Given the description of an element on the screen output the (x, y) to click on. 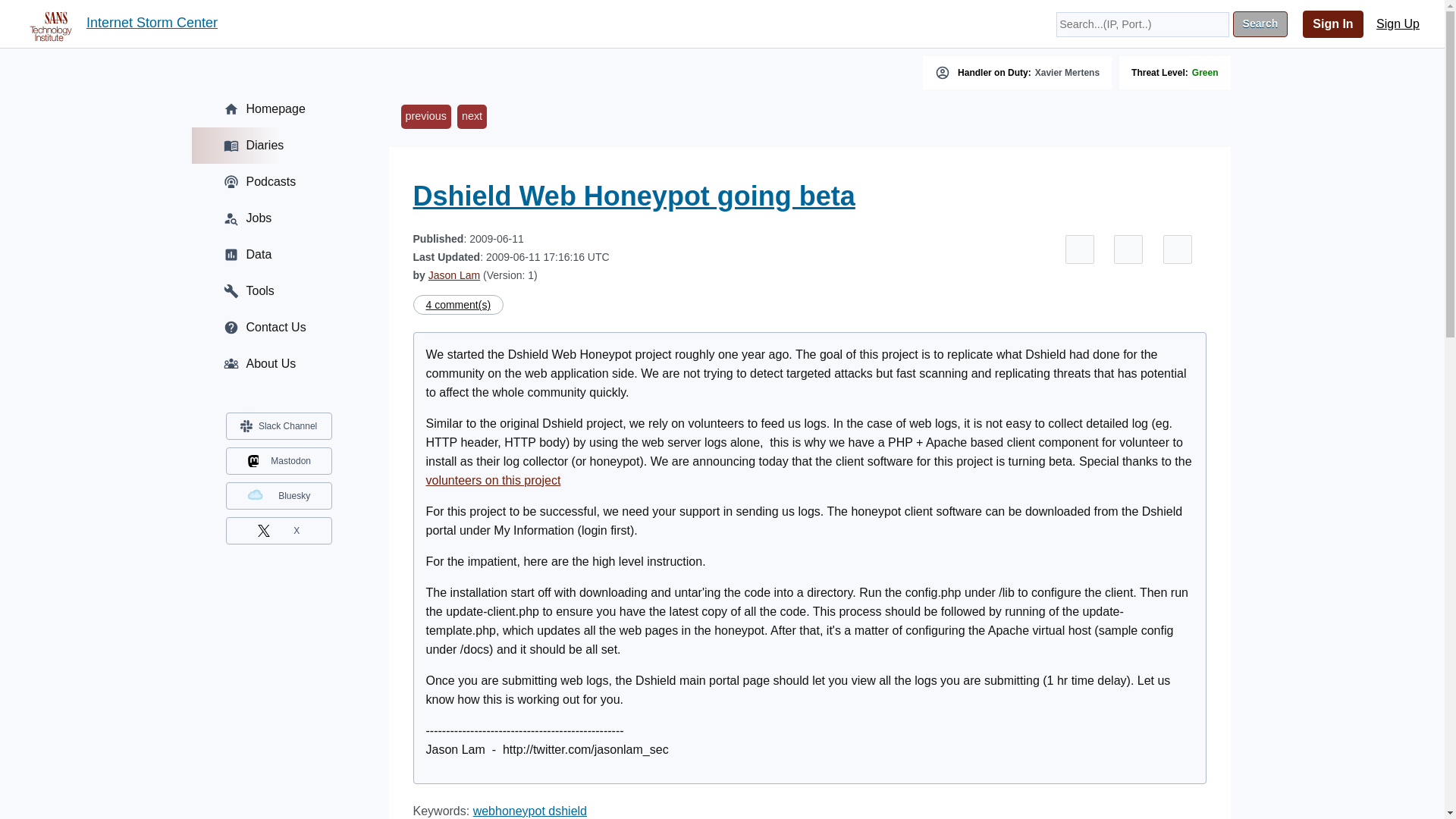
Green (1205, 72)
Sign In (1332, 24)
Diaries (277, 145)
Xavier Mertens (1067, 72)
Search (1260, 23)
Xavier Mertens (1067, 72)
Sign Up (1398, 24)
previous (424, 116)
Dshield Web Honeypot going beta (633, 195)
volunteers on this project (493, 480)
Search (1260, 23)
Jobs (277, 217)
Full Screen (1079, 249)
Homepage (277, 108)
webhoneypot dshield (529, 810)
